Given the description of an element on the screen output the (x, y) to click on. 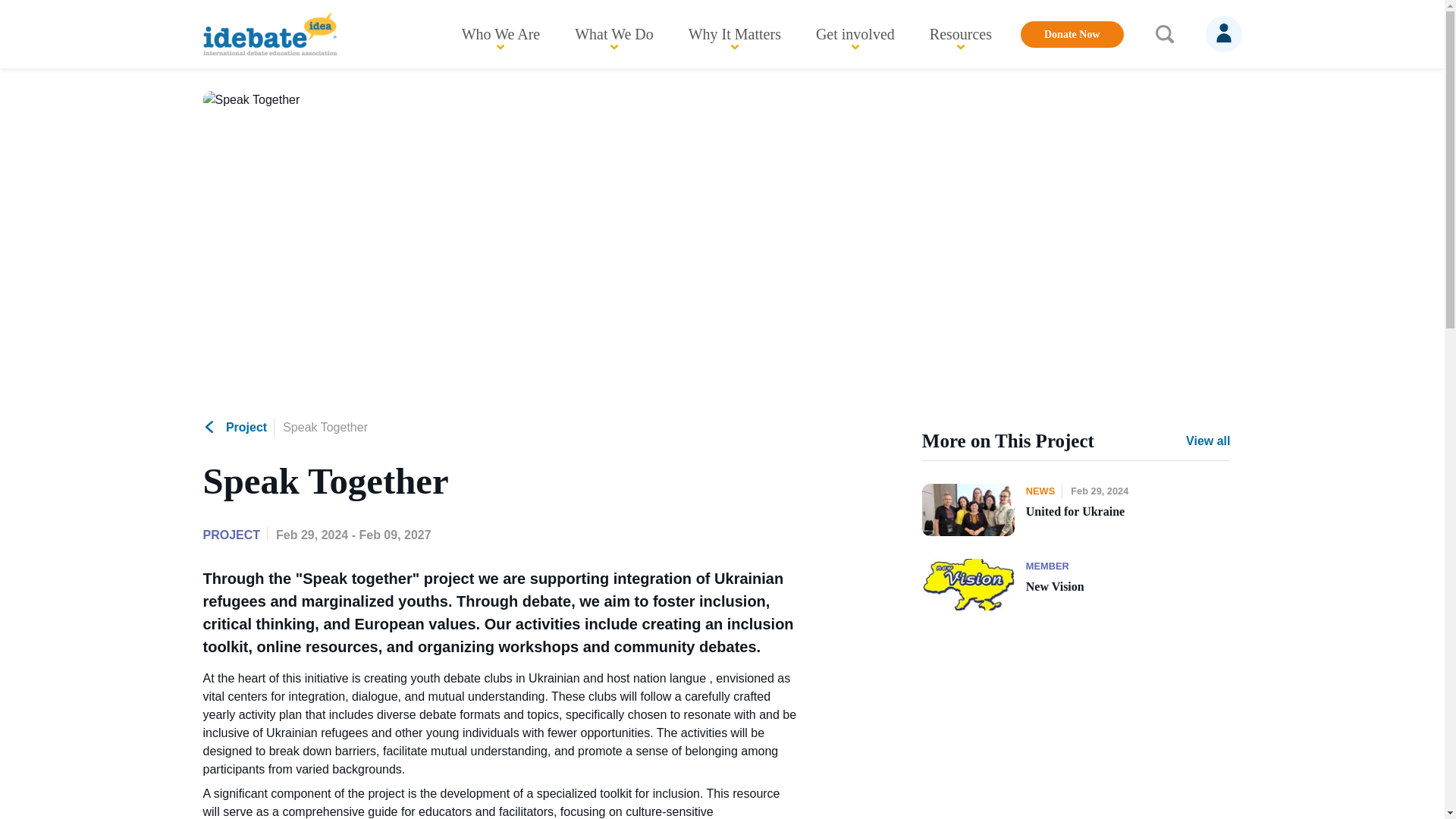
New Vision (1128, 594)
Speak Together (325, 427)
United for Ukraine (1128, 518)
What We Do (614, 33)
New Vision (967, 584)
United for Ukraine (967, 510)
Get involved (855, 33)
Who We Are (501, 33)
Donate Now (1072, 34)
View all (1208, 441)
Project (235, 427)
Why It Matters (734, 33)
Resources (960, 33)
iDebate (270, 33)
